Given the description of an element on the screen output the (x, y) to click on. 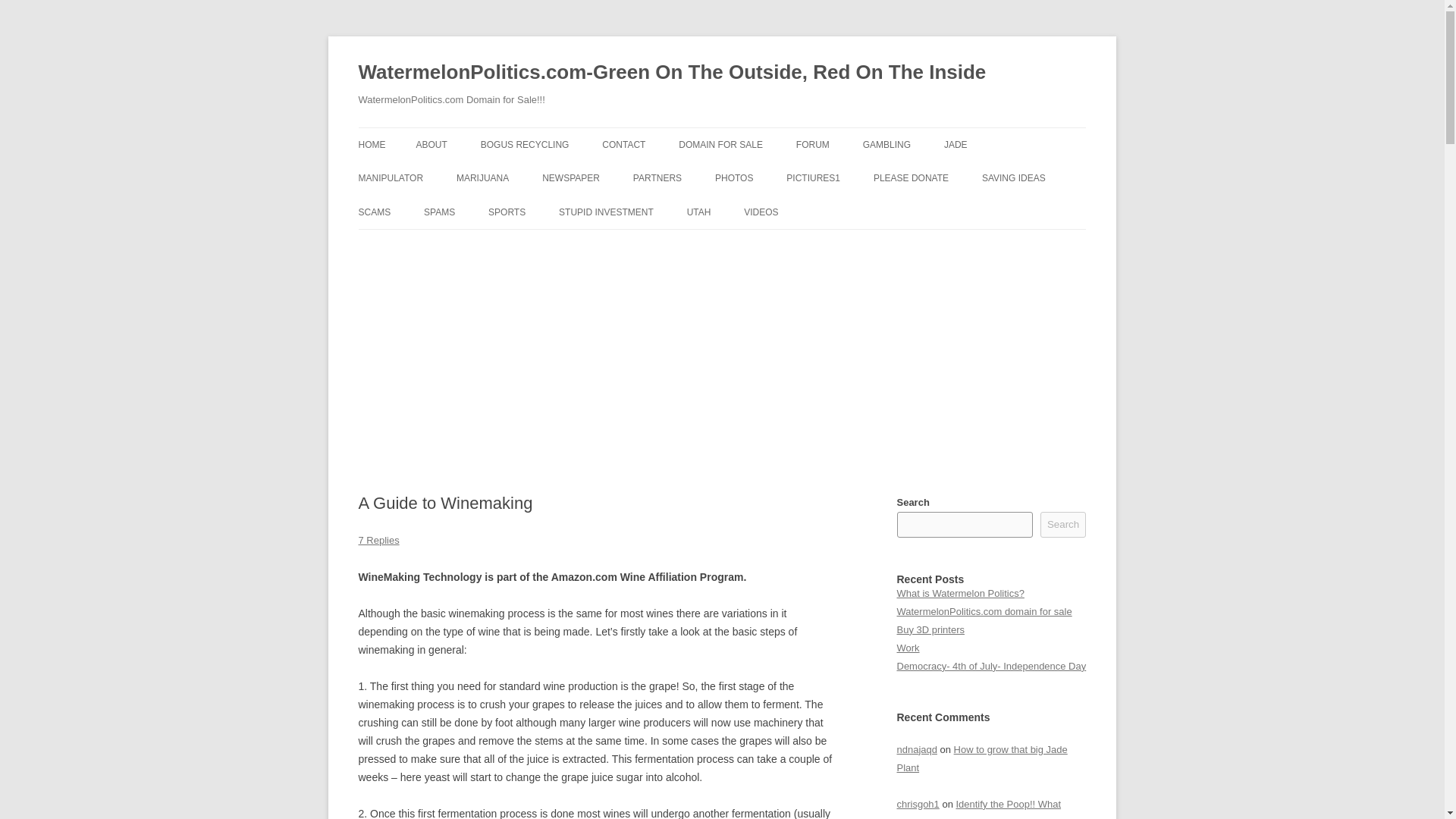
DOMAIN FOR SALE (720, 144)
FORUM (812, 144)
NEWSPAPER (570, 177)
BOGUS RECYCLING (524, 144)
SPORTS (506, 212)
SAVING IDEAS (1013, 177)
PHOTOS (733, 177)
PLEASE DONATE (911, 177)
PARTNERS (657, 177)
GAMBLING (887, 144)
MANIPULATOR (390, 177)
SPAMS (438, 212)
